Given the description of an element on the screen output the (x, y) to click on. 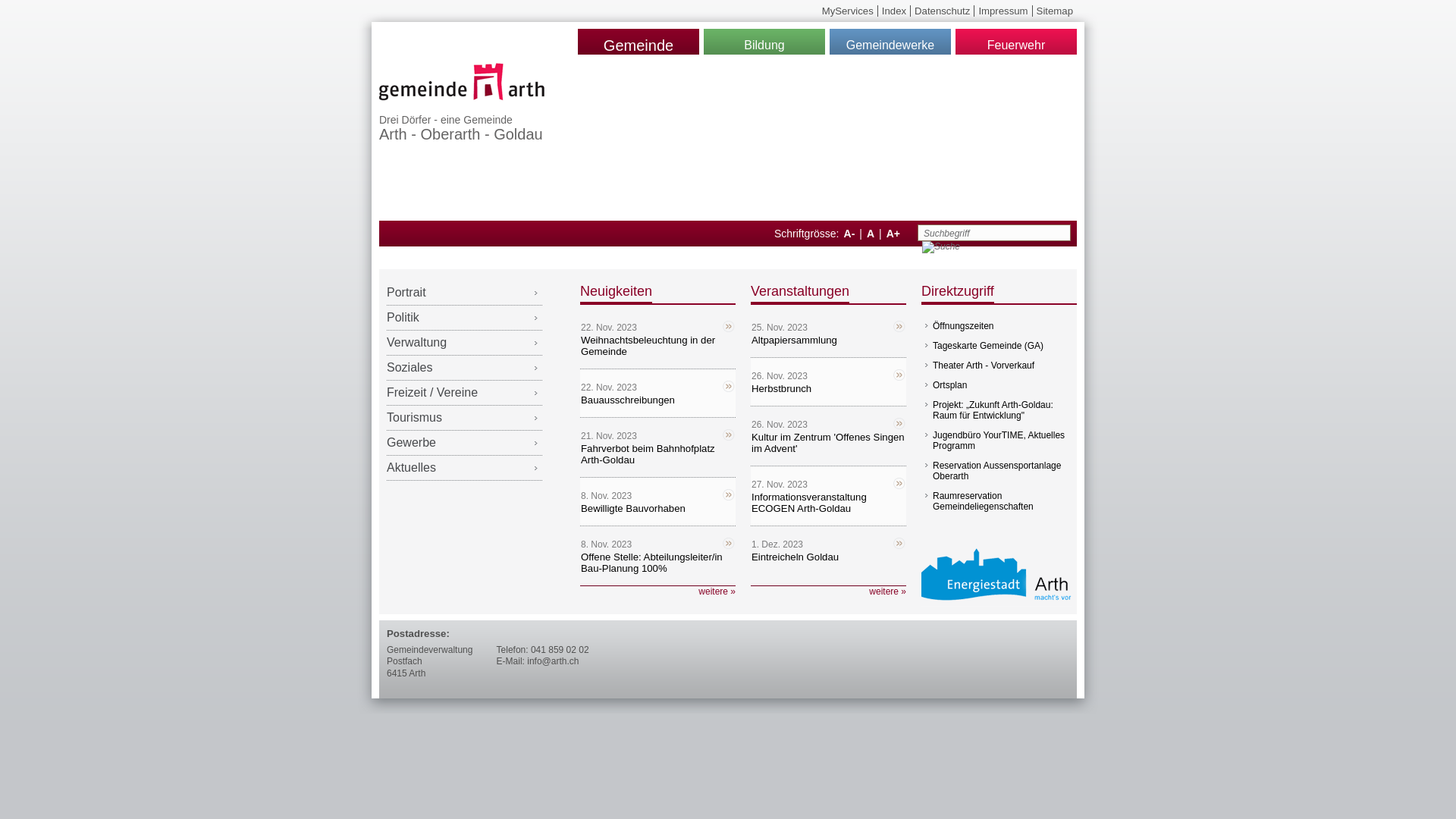
Bildung Element type: text (764, 41)
25. Nov. 2023 Element type: text (828, 327)
A Element type: text (870, 233)
Impressum Element type: text (1002, 10)
Feuerwehr Element type: text (1015, 41)
26. Nov. 2023 Element type: text (828, 375)
Informationsveranstaltung ECOGEN Arth-Goldau Element type: text (808, 502)
27. Nov. 2023 Element type: text (828, 484)
Datenschutz Element type: text (941, 10)
Portrait Element type: text (464, 292)
Suchbegriff Element type: text (986, 233)
Raumreservation Gemeindeliegenschaften Element type: text (982, 500)
Index Element type: text (893, 10)
Gemeinde Element type: text (638, 41)
Gemeindewerke Element type: text (889, 41)
Theater Arth - Vorverkauf Element type: text (983, 365)
Freizeit / Vereine Element type: text (464, 392)
22. Nov. 2023 Element type: text (657, 327)
8. Nov. 2023 Element type: text (657, 544)
Tourismus Element type: text (464, 417)
Fahrverbot beim Bahnhofplatz Arth-Goldau Element type: text (647, 453)
Ortsplan Element type: text (949, 384)
Altpapiersammlung Element type: text (794, 339)
Politik Element type: text (464, 317)
Verwaltung Element type: text (464, 342)
Gemeinde Arth Element type: hover (462, 102)
22. Nov. 2023 Element type: text (657, 387)
Aktuelles Element type: text (464, 467)
Kultur im Zentrum 'Offenes Singen im Advent' Element type: text (827, 442)
Reservation Aussensportanlage Oberarth Element type: text (996, 470)
21. Nov. 2023 Element type: text (657, 435)
26. Nov. 2023 Element type: text (828, 424)
Gewerbe Element type: text (464, 442)
Bauausschreibungen Element type: text (627, 399)
Eintreicheln Goldau Element type: text (794, 556)
Sitemap Element type: text (1054, 10)
Bewilligte Bauvorhaben Element type: text (632, 508)
Tageskarte Gemeinde (GA) Element type: text (987, 345)
A- Element type: text (849, 233)
Soziales Element type: text (464, 367)
A+ Element type: text (893, 233)
1. Dez. 2023 Element type: text (828, 544)
Weihnachtsbeleuchtung in der Gemeinde Element type: text (647, 345)
MyServices Element type: text (847, 10)
Herbstbrunch Element type: text (781, 388)
Offene Stelle: Abteilungsleiter/in Bau-Planung 100% Element type: text (651, 562)
8. Nov. 2023 Element type: text (657, 495)
